Given the description of an element on the screen output the (x, y) to click on. 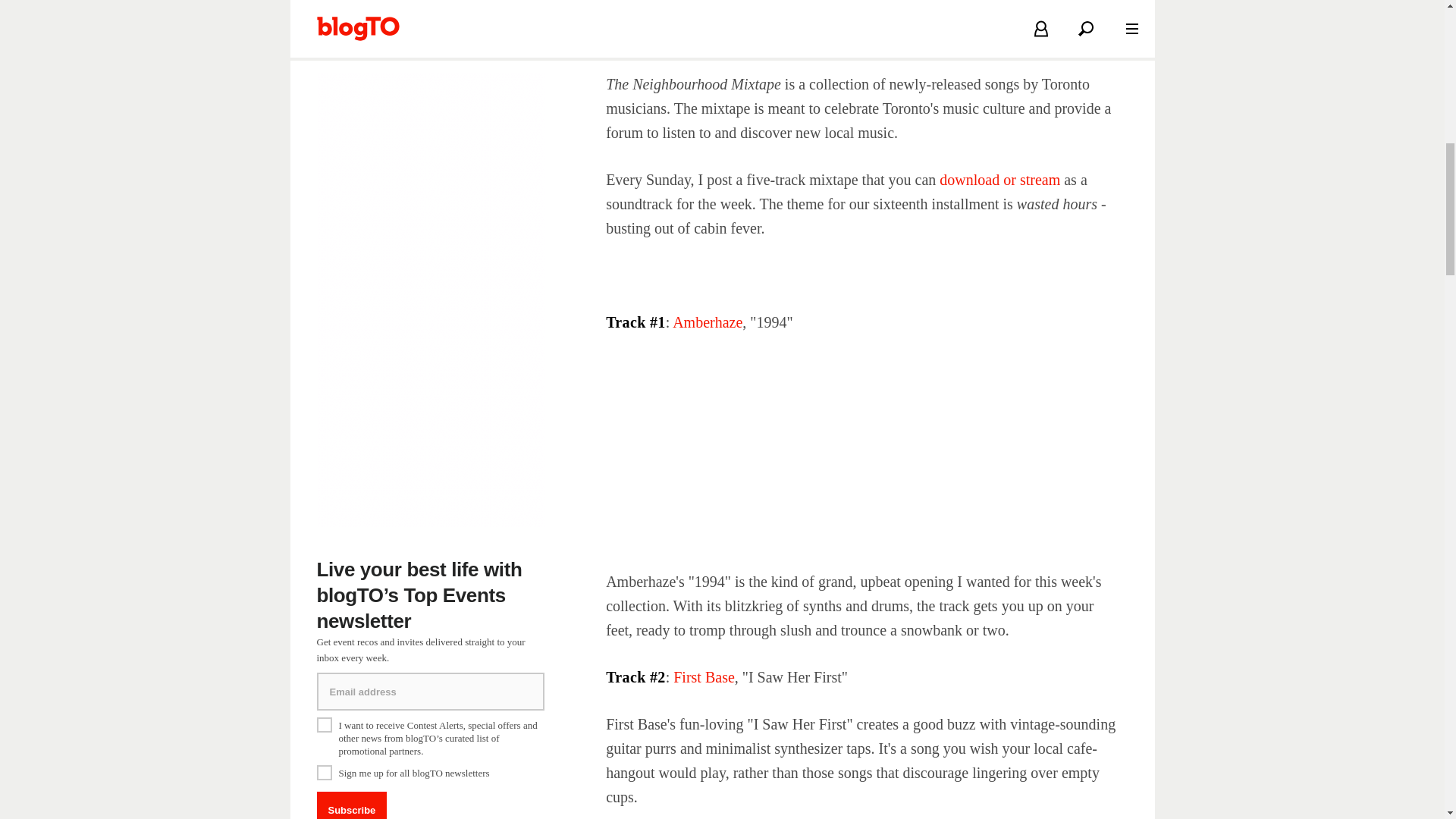
Subscribe (352, 805)
